Given the description of an element on the screen output the (x, y) to click on. 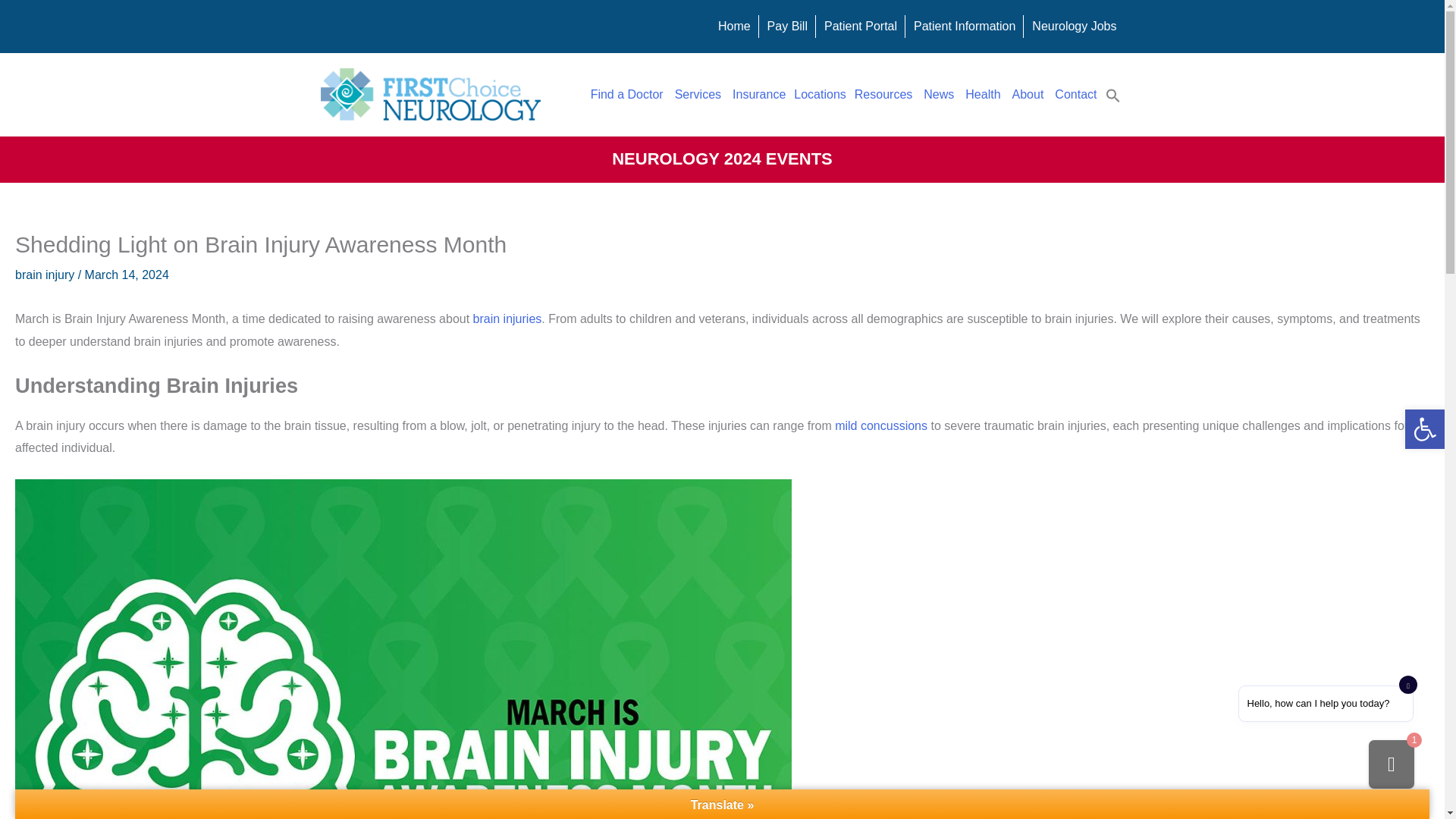
Pay Bill (787, 26)
Information for Patients (964, 26)
Secure Portal for Patients (860, 26)
Florida Neurologists (627, 94)
Find a Doctor (627, 94)
First Choice Neurology Services (699, 94)
Home (734, 26)
First Choice Neurology (430, 94)
Patient Portal (860, 26)
Patient Information (964, 26)
Neurology Jobs (1074, 26)
Services (699, 94)
Accessibility Tools (1424, 428)
First Choice Neurology (734, 26)
